Given the description of an element on the screen output the (x, y) to click on. 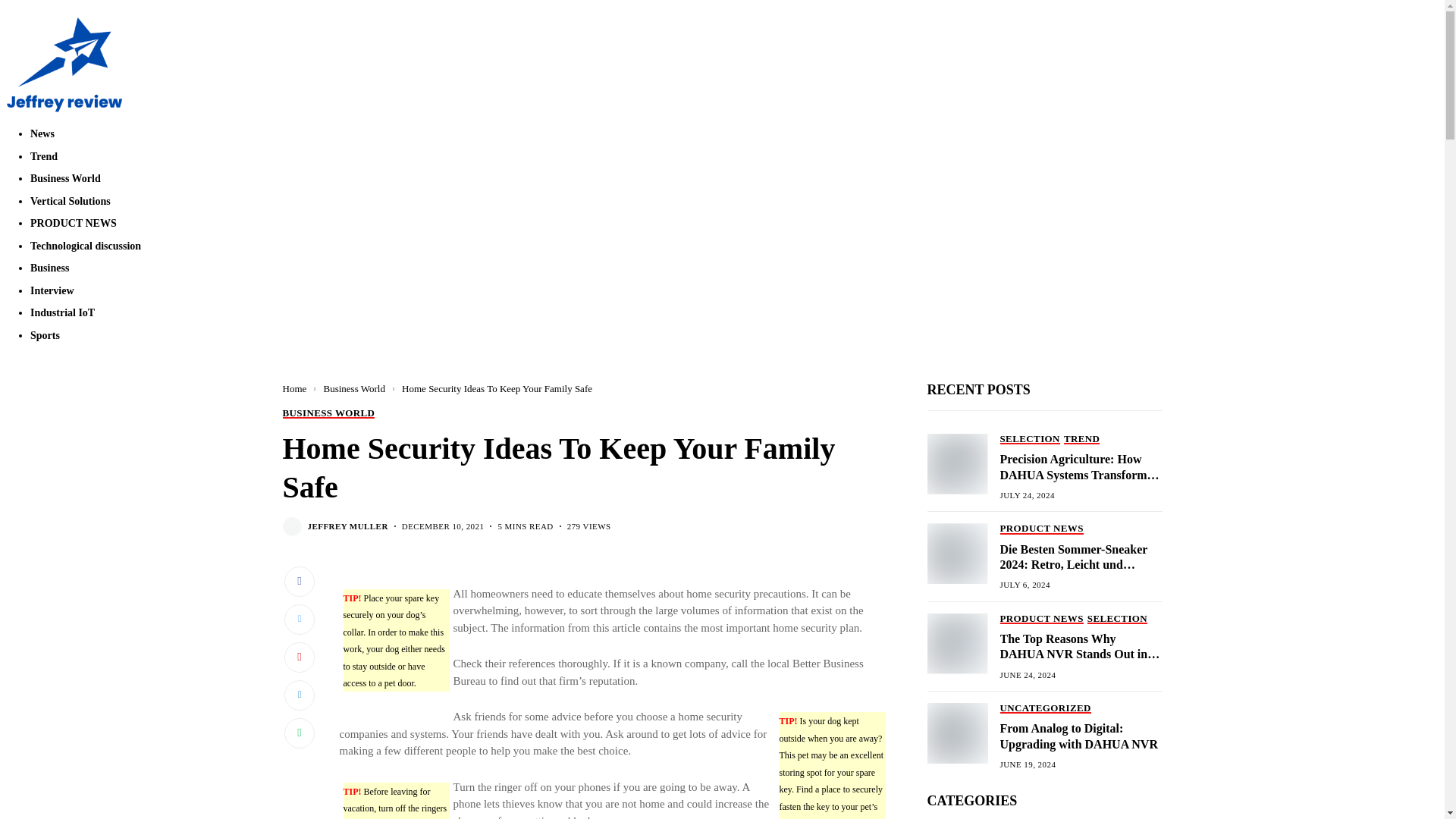
Business (49, 267)
Sports (44, 334)
Vertical Solutions (70, 201)
News (42, 133)
Die Besten Sommer-Sneaker 2024: Retro, Leicht und Stilvoll (956, 553)
Industrial IoT (62, 312)
From Analog to Digital: Upgrading with DAHUA NVR (956, 732)
Precision Agriculture: How DAHUA Systems Transform Farming (956, 463)
Posts by Jeffrey Muller (347, 526)
Business World (65, 178)
